Given the description of an element on the screen output the (x, y) to click on. 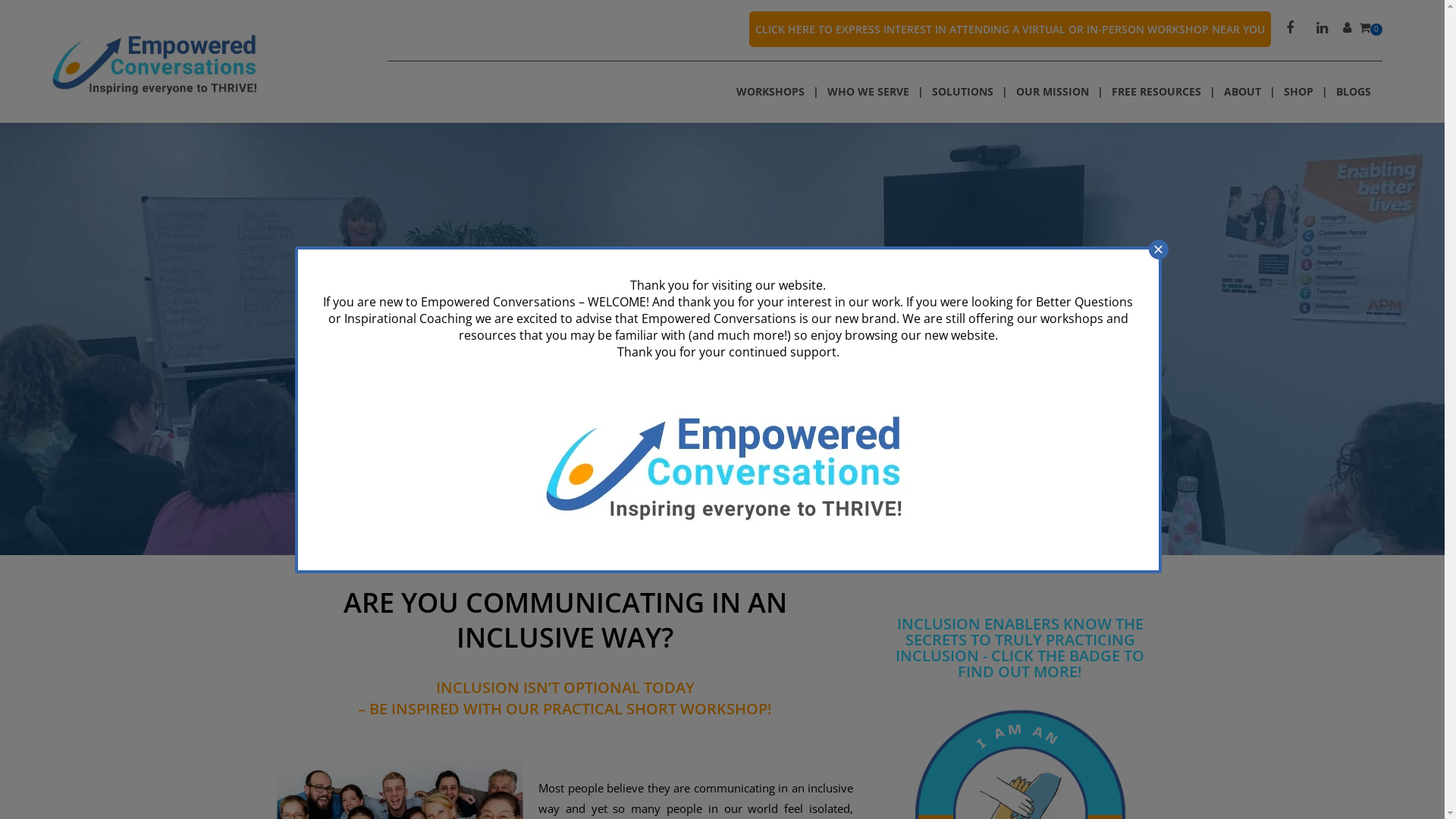
FREE RESOURCES Element type: text (1156, 91)
WORKSHOPS Element type: text (775, 91)
SHOP Element type: text (1298, 91)
WHO WE SERVE Element type: text (867, 91)
ABOUT Element type: text (1242, 91)
SOLUTIONS Element type: text (962, 91)
View your account Element type: hover (1350, 28)
OUR MISSION Element type: text (1052, 91)
BLOGS Element type: text (1353, 91)
0 Element type: text (1370, 28)
LEARN MORE Element type: text (727, 490)
